Given the description of an element on the screen output the (x, y) to click on. 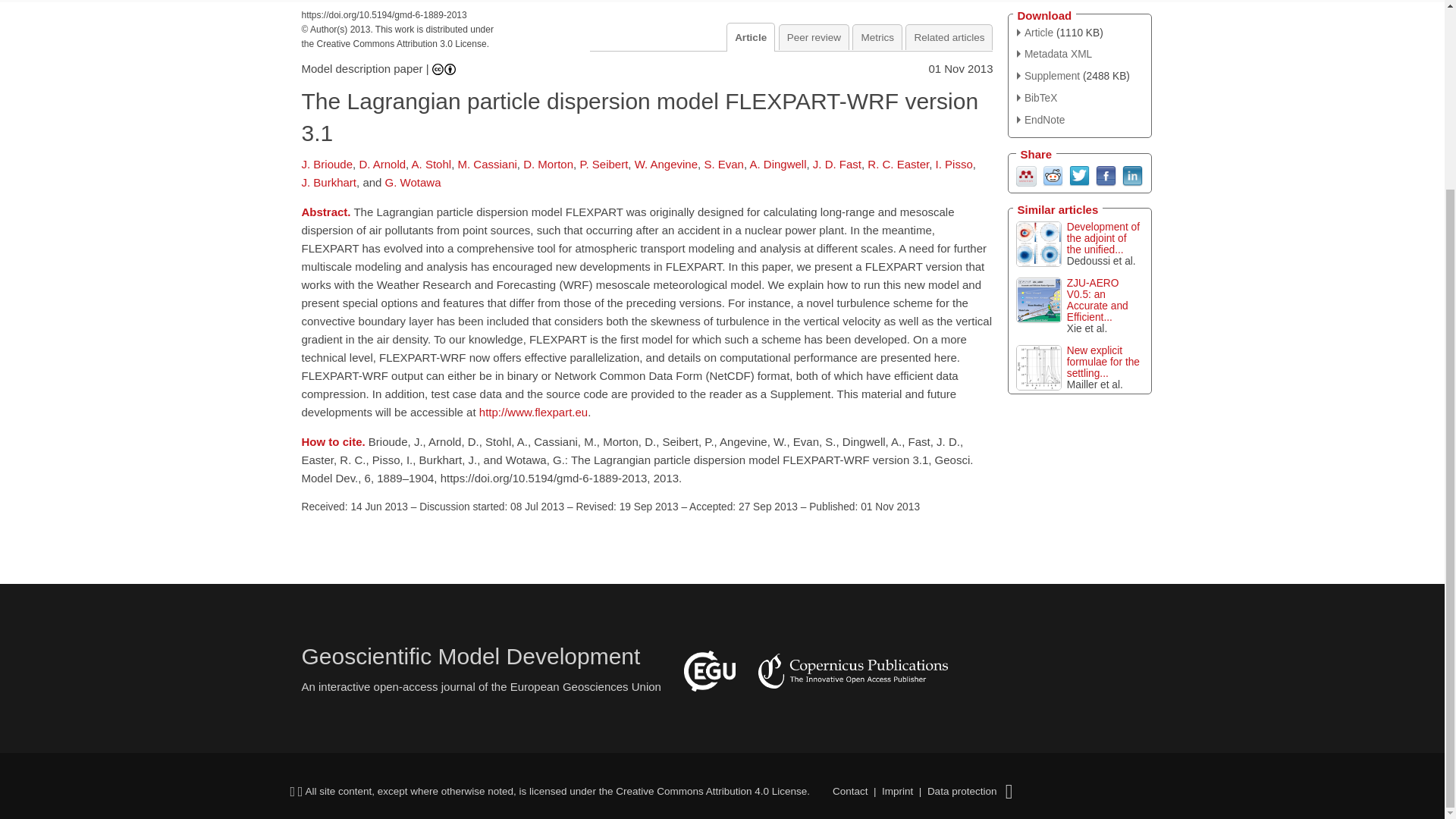
Twitter (1078, 174)
Reddit (1052, 174)
XML Version (1054, 53)
Mendeley (1026, 174)
